Given the description of an element on the screen output the (x, y) to click on. 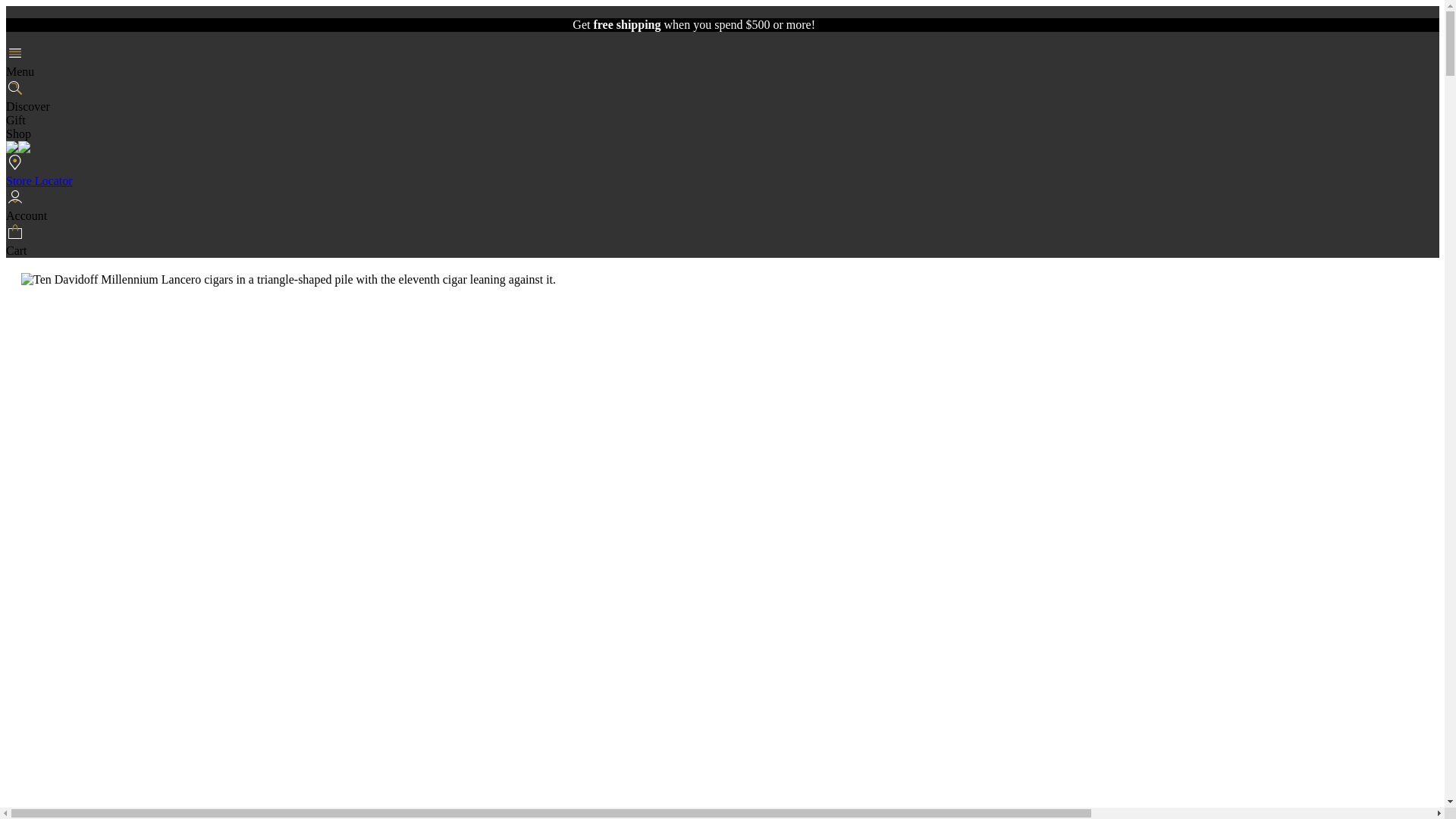
Store Locator (722, 170)
